Given the description of an element on the screen output the (x, y) to click on. 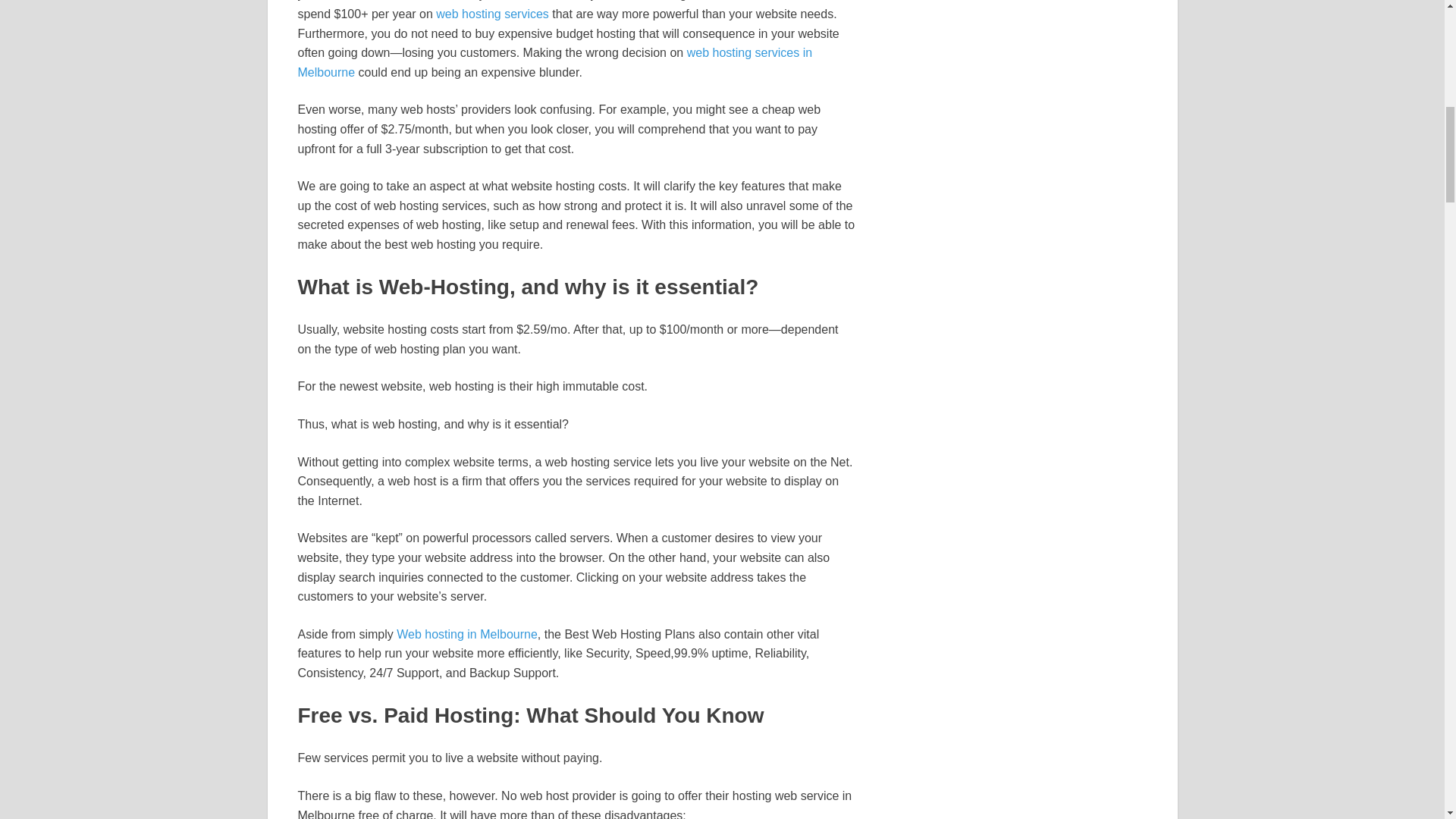
Web hosting in Melbourne (466, 634)
web hosting services in Melbourne (554, 61)
web hosting services (491, 13)
